Given the description of an element on the screen output the (x, y) to click on. 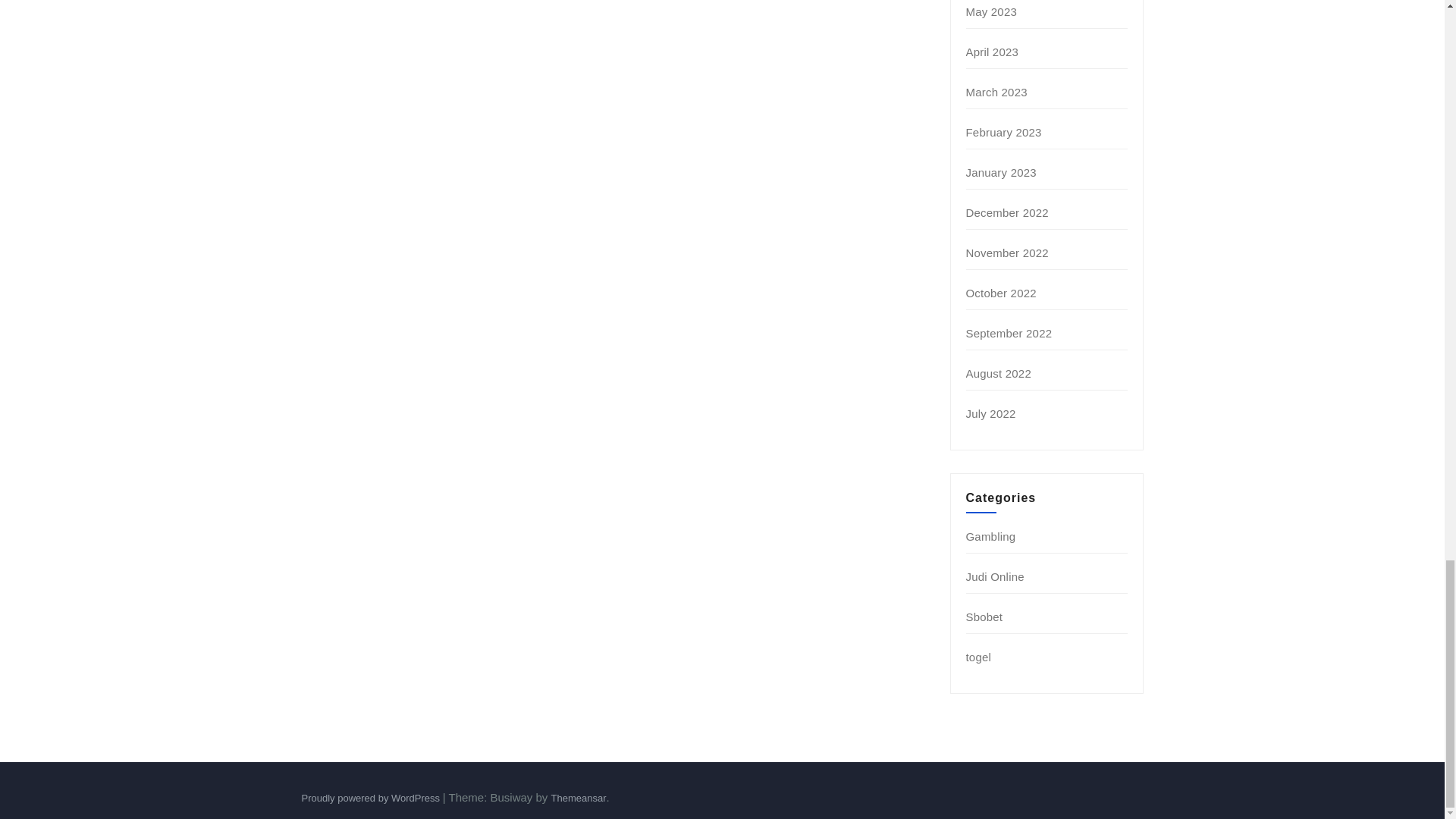
April 2023 (992, 51)
May 2023 (991, 11)
March 2023 (996, 91)
